Given the description of an element on the screen output the (x, y) to click on. 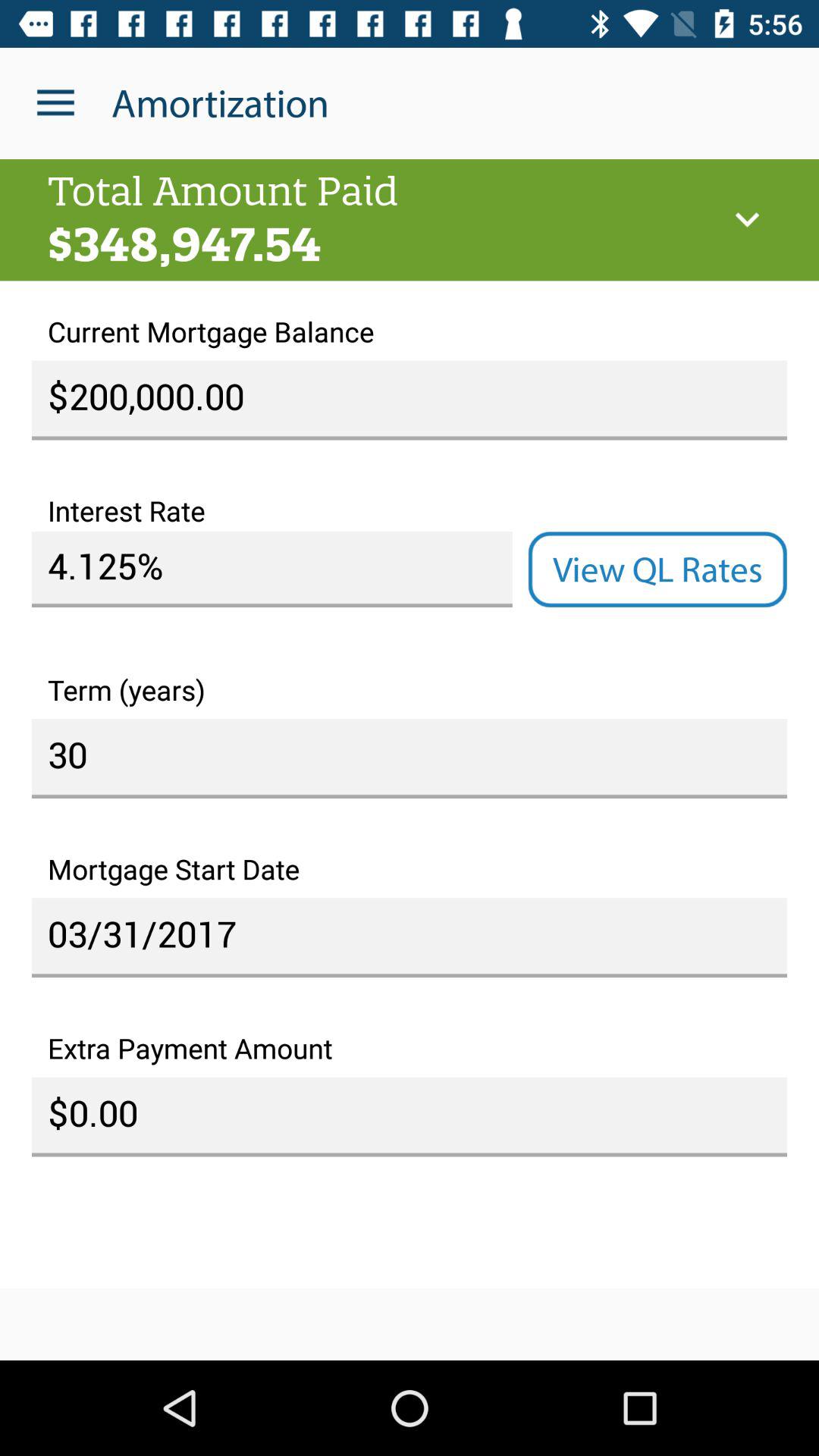
click on the button interest rate (271, 569)
